Given the description of an element on the screen output the (x, y) to click on. 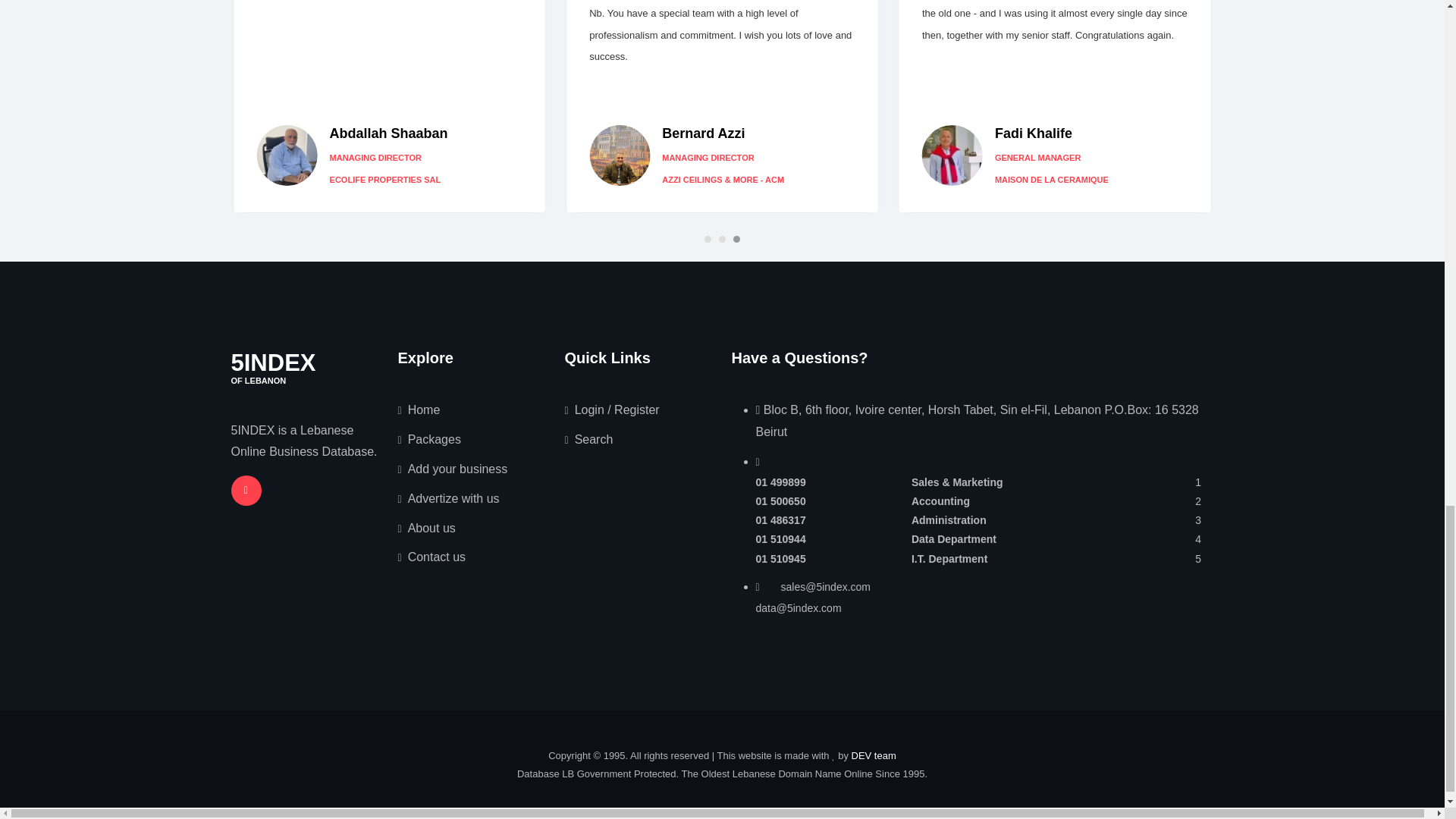
DEV team (873, 755)
Home (418, 409)
Packages (428, 439)
Contact us (431, 556)
5INDEX facebook page (245, 490)
Search (272, 367)
About us (588, 439)
Advertize with us (425, 527)
Add your business (448, 498)
